Given the description of an element on the screen output the (x, y) to click on. 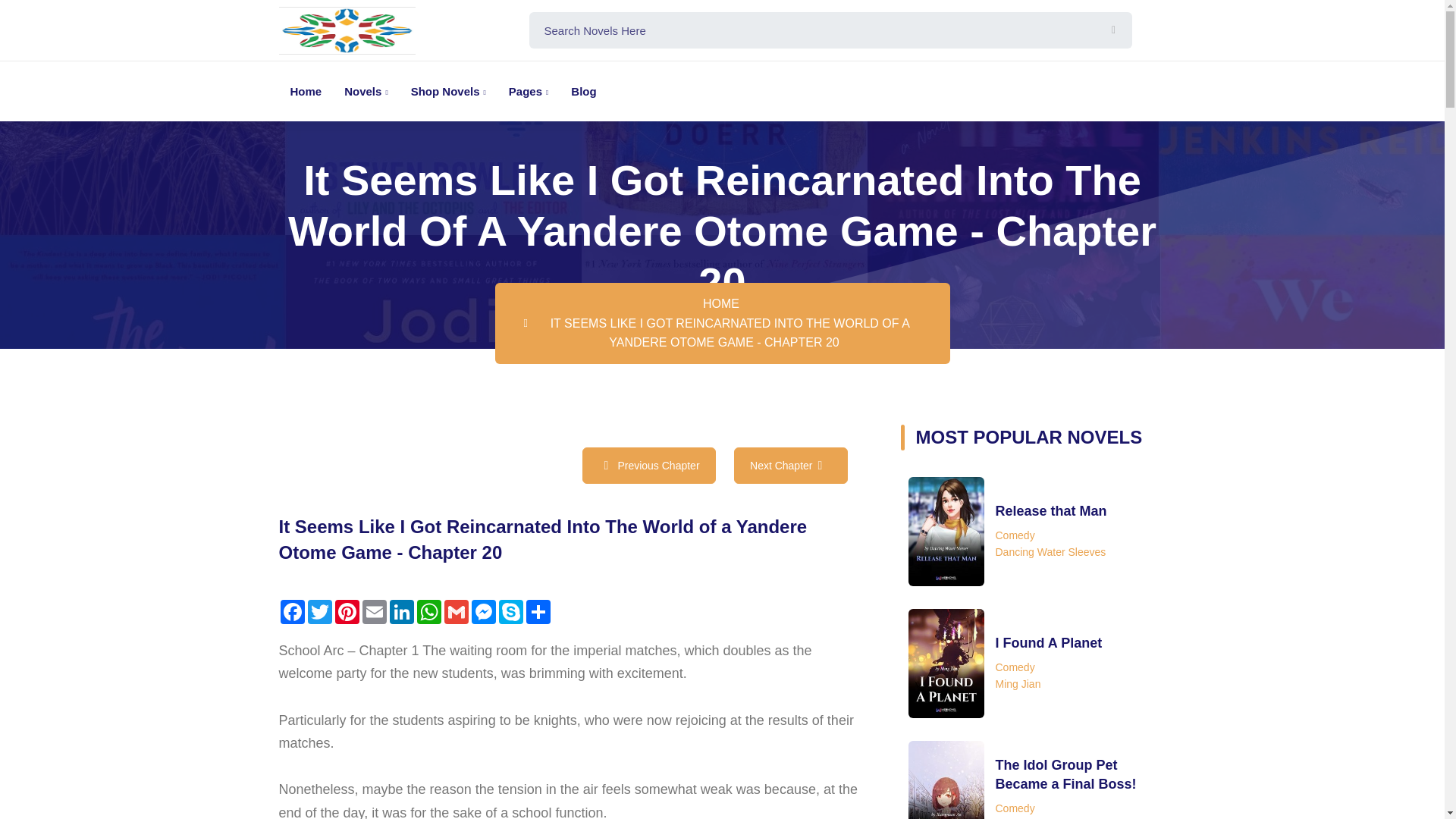
Facebook (292, 611)
Next Chapter (790, 465)
Pages (528, 91)
Previous Chapter (648, 465)
Novels (365, 91)
HOME (721, 303)
Messenger (483, 611)
Gmail (456, 611)
Twitter (319, 611)
LinkedIn (401, 611)
Pinterest (347, 611)
WhatsApp (428, 611)
Home (306, 91)
Shop Novels (447, 91)
Email (374, 611)
